Given the description of an element on the screen output the (x, y) to click on. 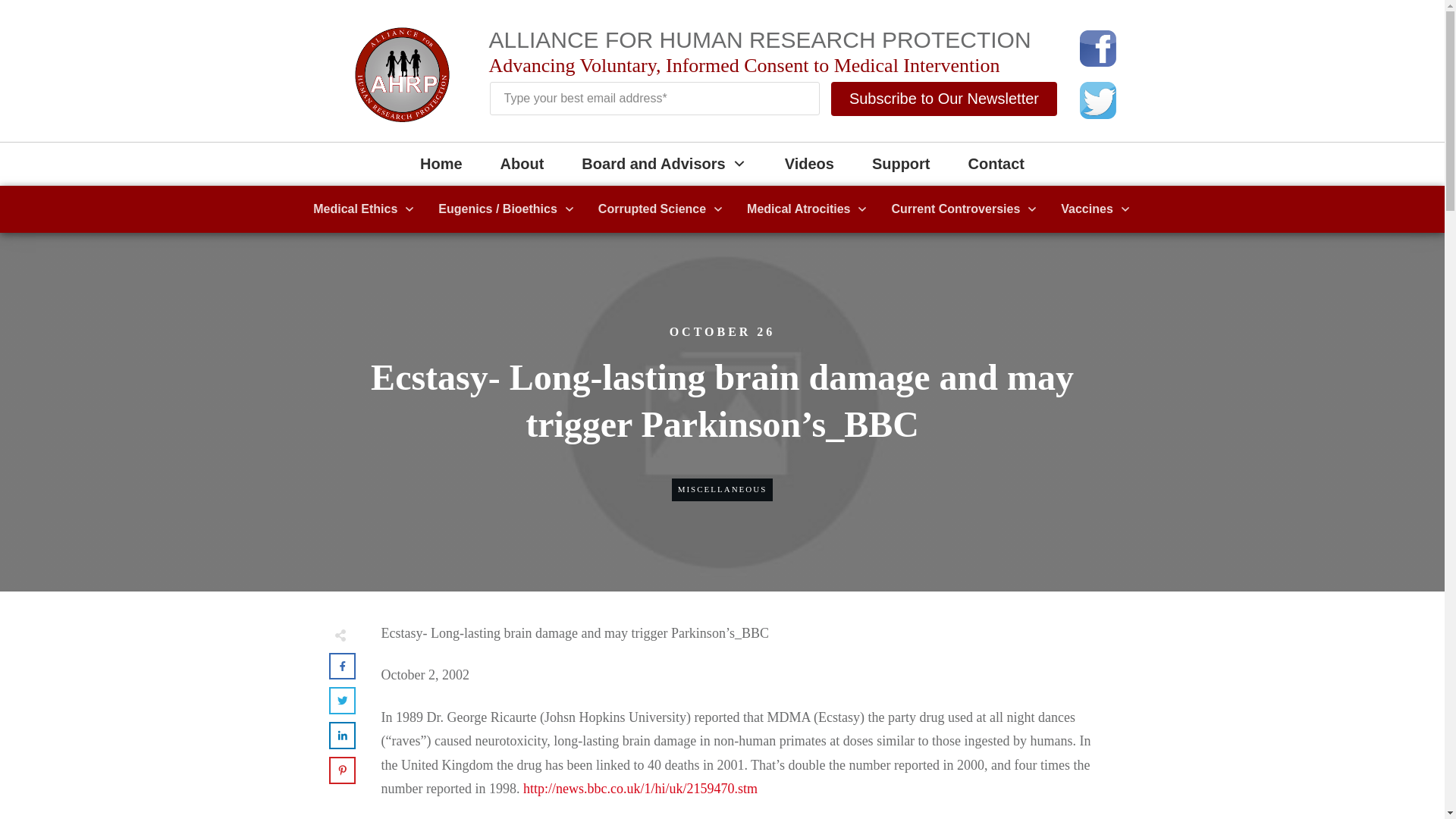
Corrupted Science (660, 209)
Medical Atrocities (806, 209)
About (522, 163)
Board and Advisors (662, 163)
Contact (996, 163)
Videos (809, 163)
Miscellaneous (722, 488)
twitter-logo (1098, 99)
Subscribe to Our Newsletter (944, 98)
Medical Ethics (363, 209)
Home (441, 163)
Support (901, 163)
Medical Ethics (363, 209)
facebook-logo (1098, 48)
